Given the description of an element on the screen output the (x, y) to click on. 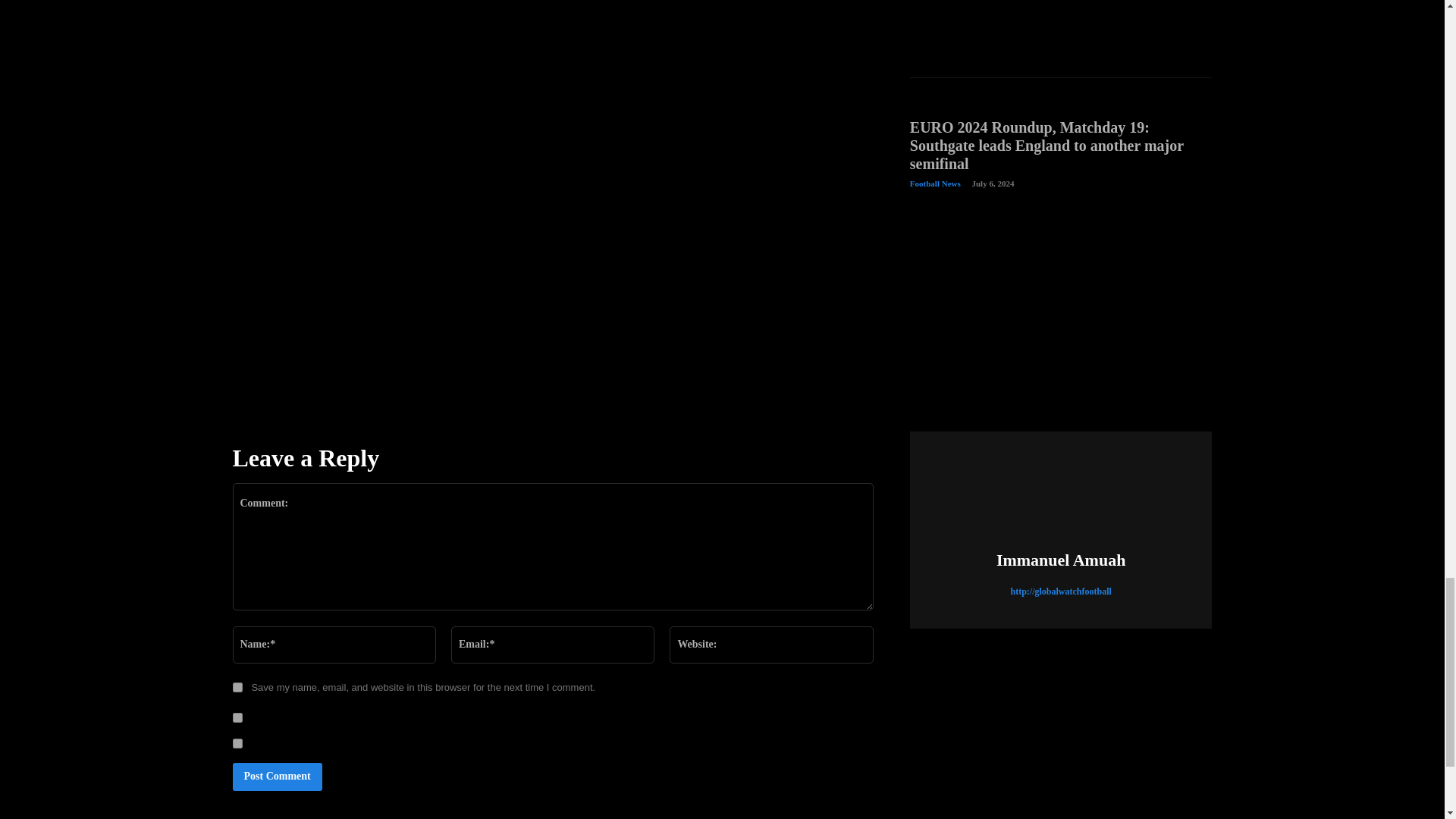
yes (236, 687)
Post Comment (276, 776)
subscribe (236, 717)
subscribe (236, 743)
